Given the description of an element on the screen output the (x, y) to click on. 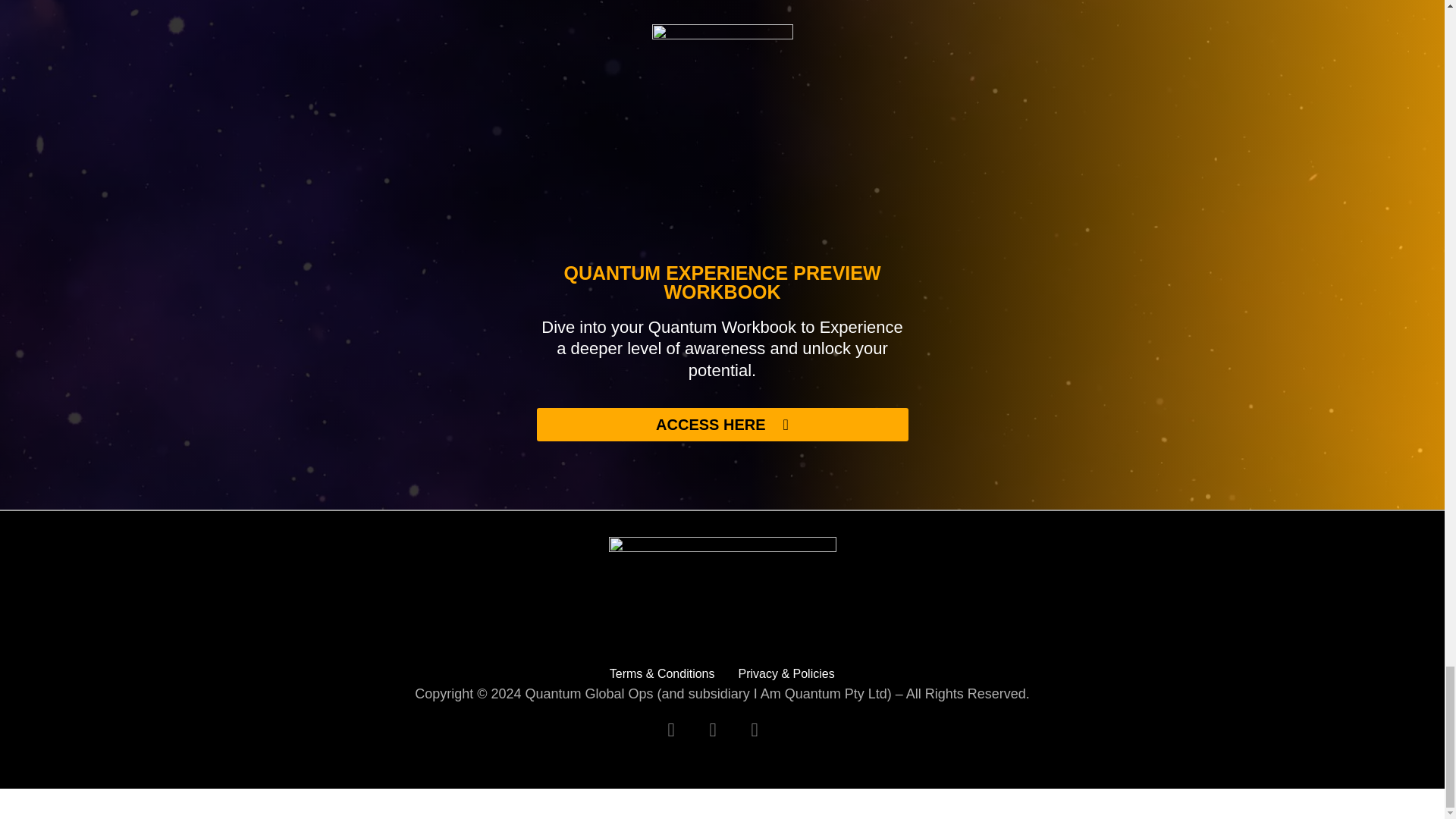
ACCESS HERE (722, 424)
